Given the description of an element on the screen output the (x, y) to click on. 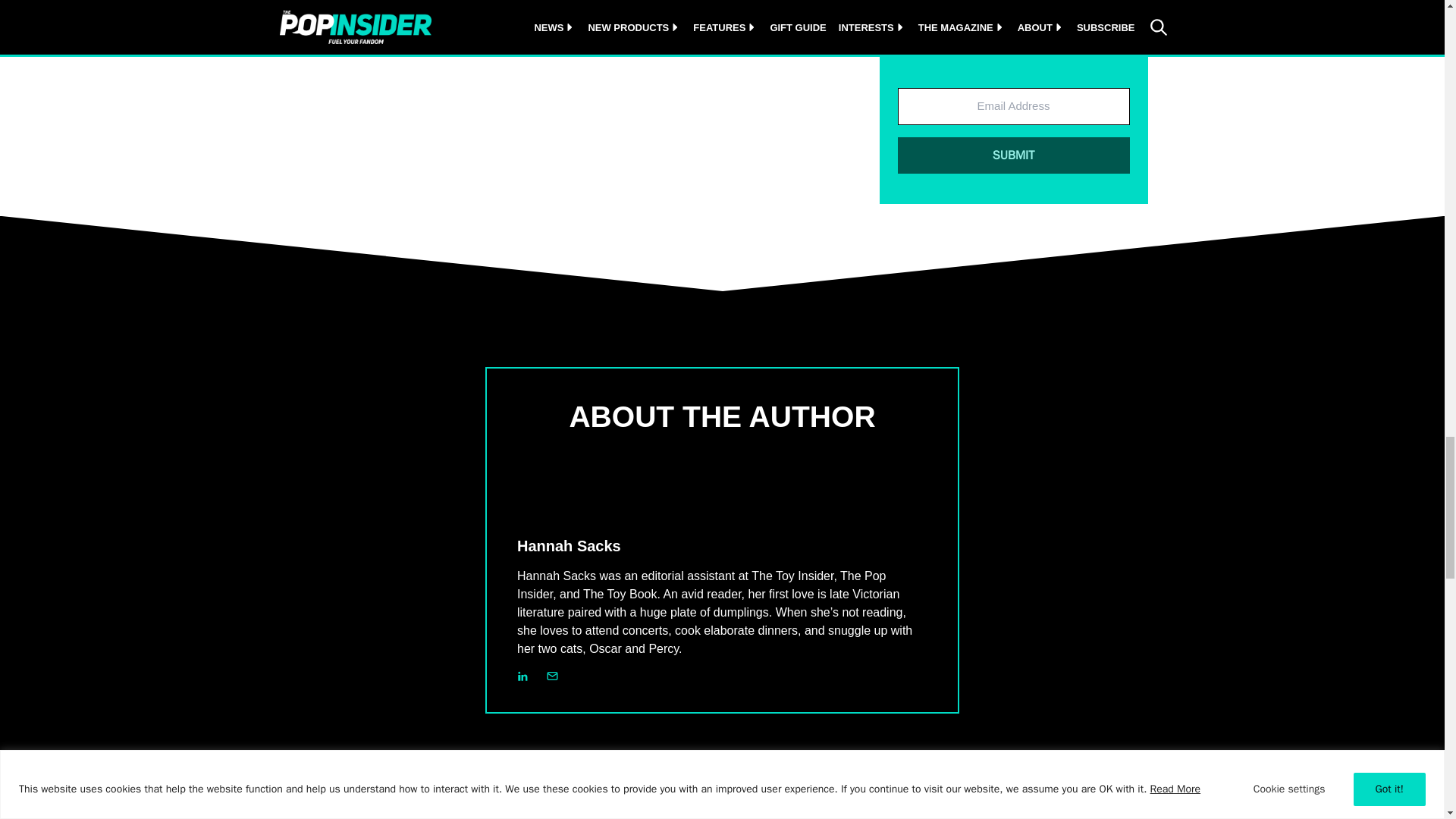
Submit (1013, 155)
